Given the description of an element on the screen output the (x, y) to click on. 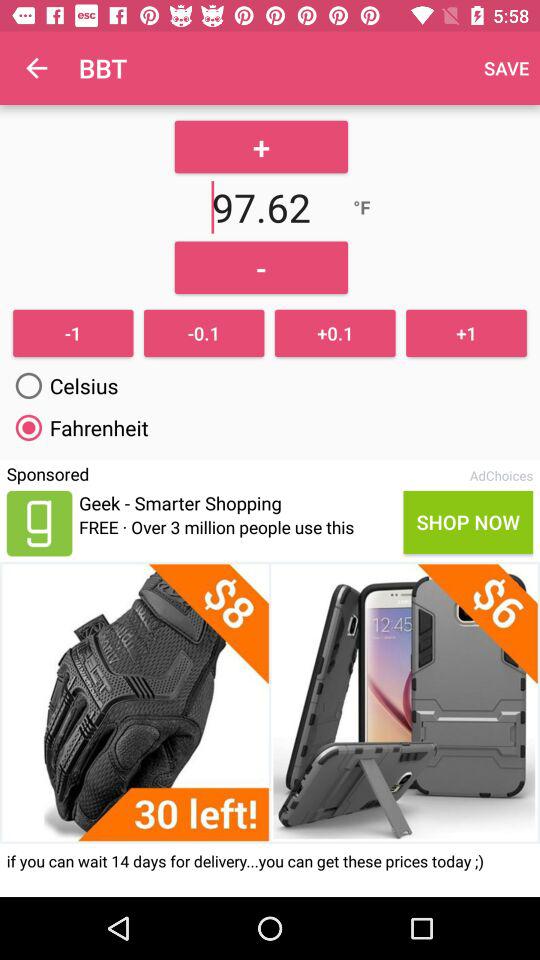
select sponsored advertisement (39, 523)
